Given the description of an element on the screen output the (x, y) to click on. 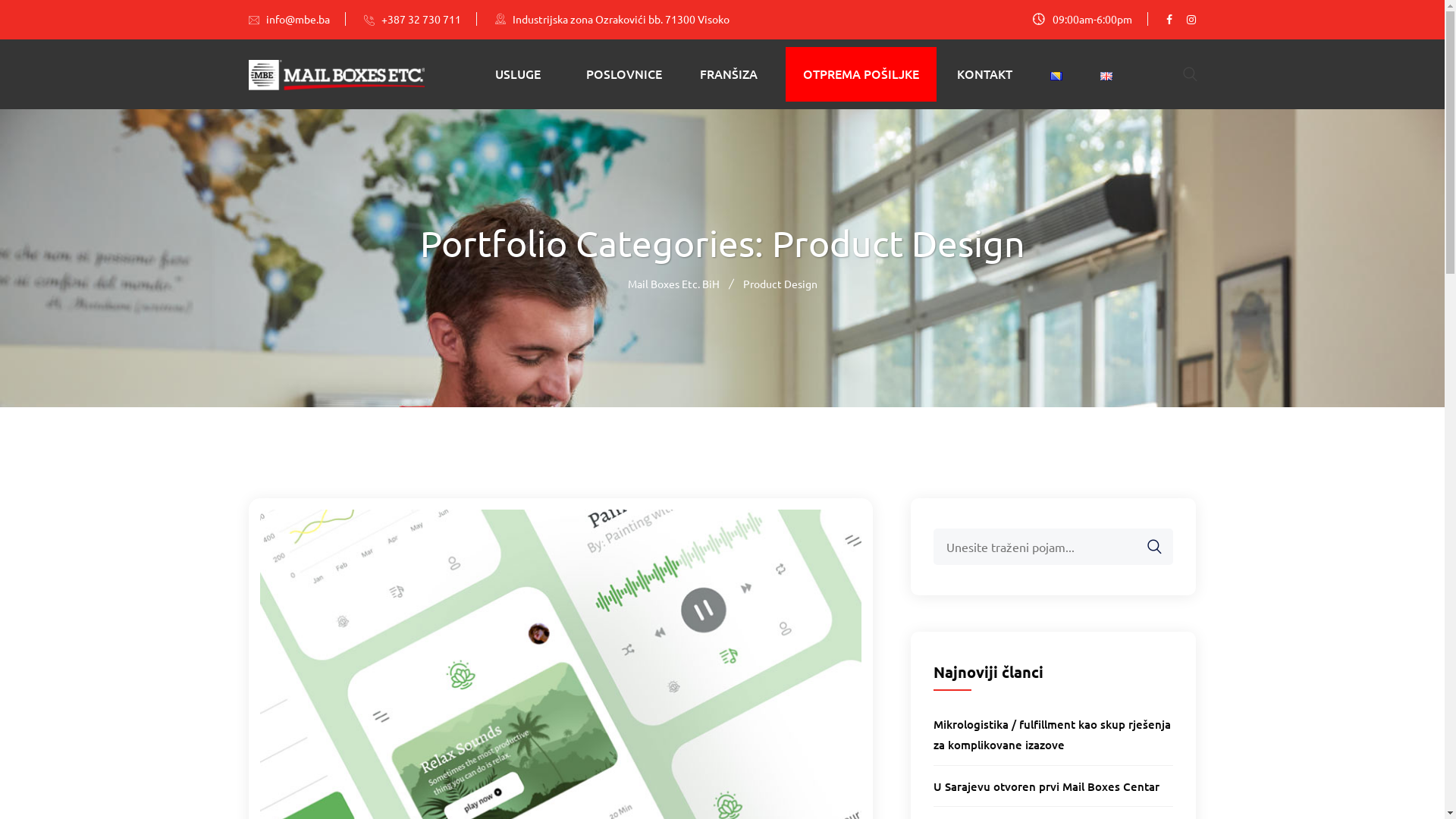
info@mbe.ba Element type: text (305, 18)
+387 32 730 711 Element type: text (428, 18)
KONTAKT Element type: text (984, 73)
USLUGE Element type: text (517, 73)
POSLOVNICE Element type: text (623, 73)
U Sarajevu otvoren prvi Mail Boxes Centar Element type: text (1046, 785)
Search Element type: text (1146, 546)
Mail Boxes Etc. BiH Element type: text (673, 283)
